Given the description of an element on the screen output the (x, y) to click on. 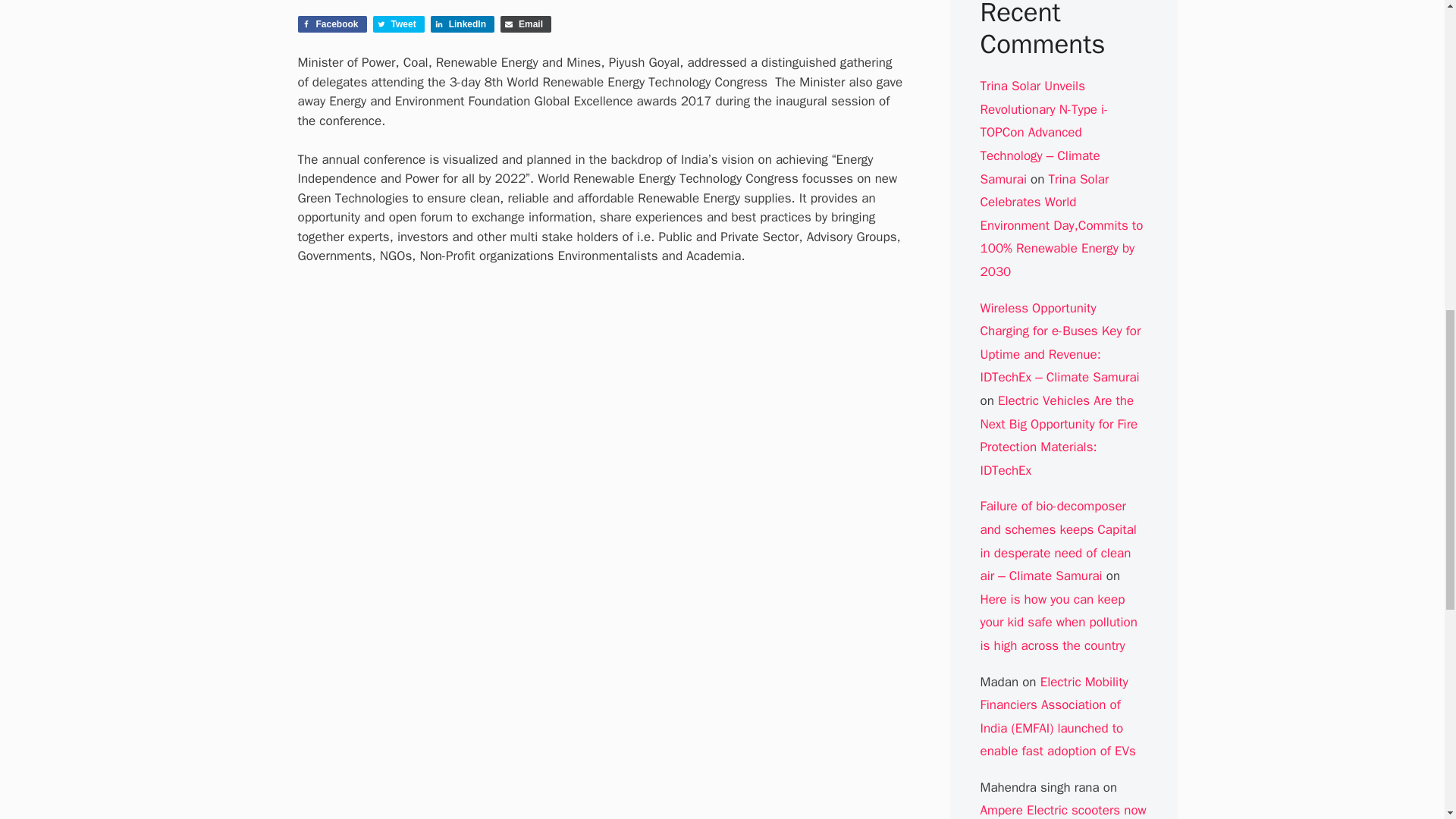
Email (525, 23)
Facebook (331, 23)
Share on Facebook (331, 23)
Share on LinkedIn (462, 23)
Share on Twitter (398, 23)
Email (525, 23)
Share via Email (525, 23)
LinkedIn (462, 23)
Tweet (398, 23)
